Given the description of an element on the screen output the (x, y) to click on. 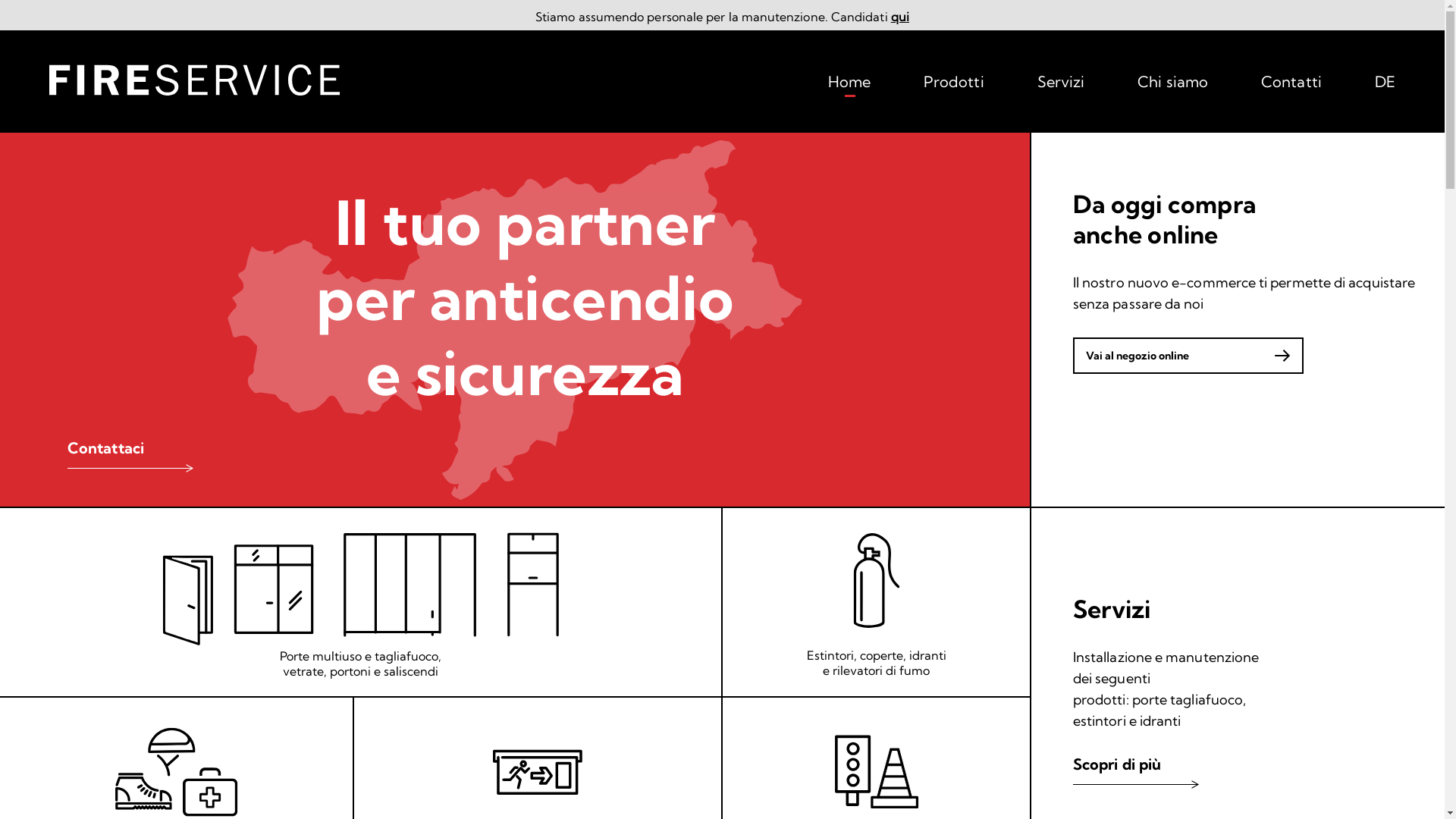
Porte multiuso e tagliafuoco,
vetrate, portoni e saliscendi Element type: text (360, 602)
DE Element type: text (1384, 84)
Servizi Element type: text (1061, 84)
qui Element type: text (900, 16)
Vai al negozio online Element type: text (1188, 355)
Home Element type: text (849, 84)
Contattaci Element type: text (130, 457)
Contatti Element type: text (1291, 84)
Estintori, coperte, idranti
e rilevatori di fumo Element type: text (876, 605)
Prodotti Element type: text (953, 84)
Chi siamo Element type: text (1172, 84)
